Given the description of an element on the screen output the (x, y) to click on. 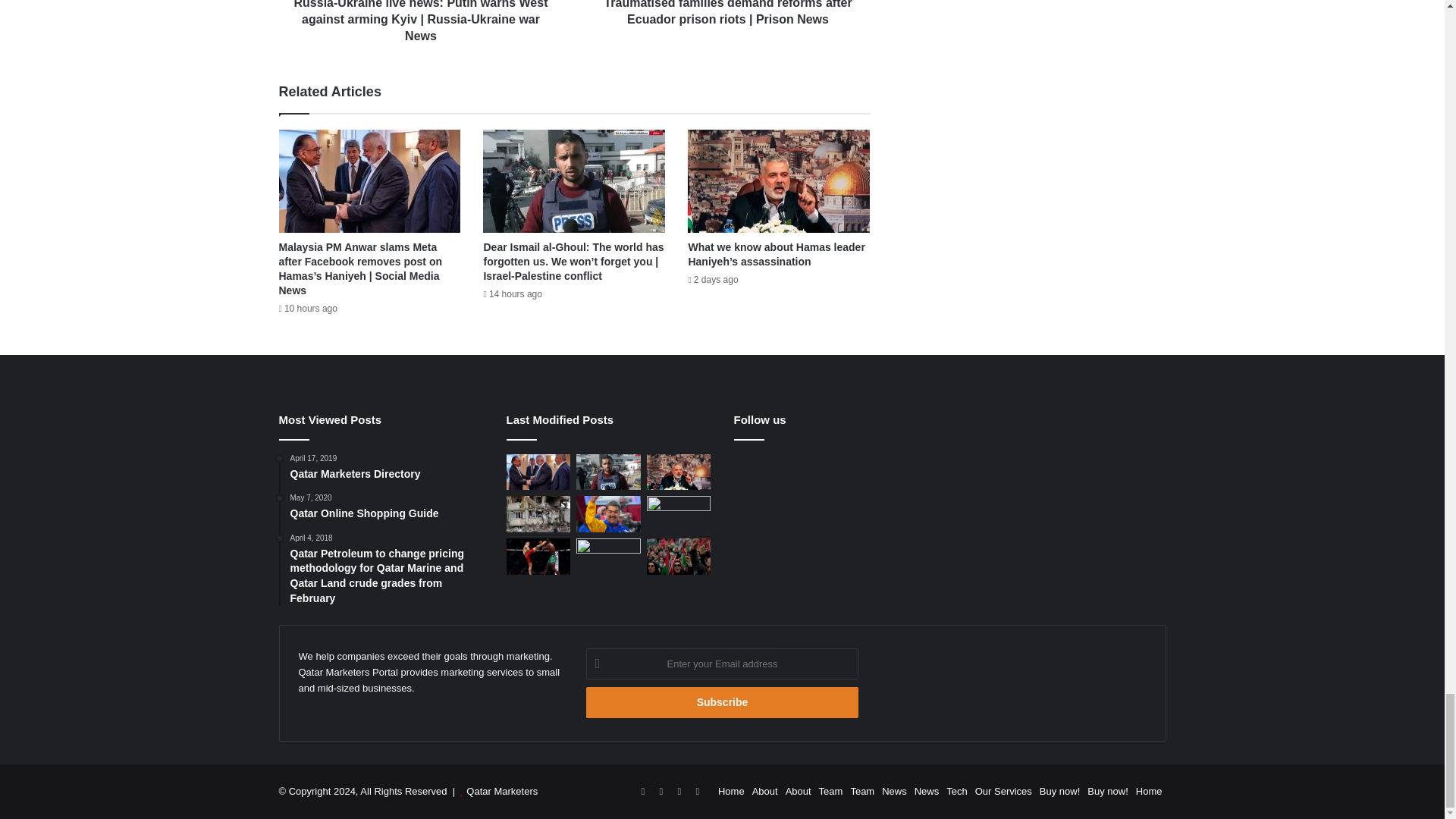
Subscribe (722, 702)
